Given the description of an element on the screen output the (x, y) to click on. 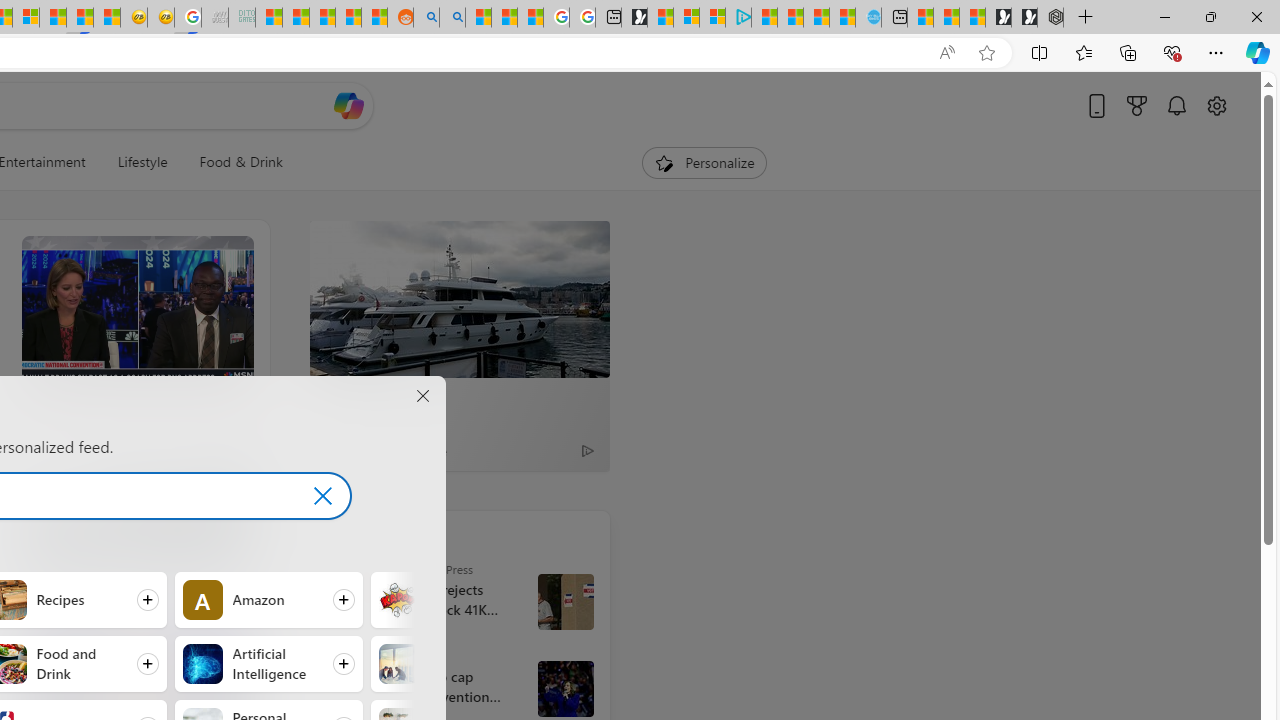
Business (397, 663)
Lifestyle (142, 162)
Personalize (703, 162)
Food & Drink (240, 162)
Microsoft Start Gaming (634, 17)
Follow Amazon (268, 599)
Utah sues federal government - Search (452, 17)
Home | Sky Blue Bikes - Sky Blue Bikes (868, 17)
Lifestyle (141, 162)
Food & Drink (232, 162)
